Given the description of an element on the screen output the (x, y) to click on. 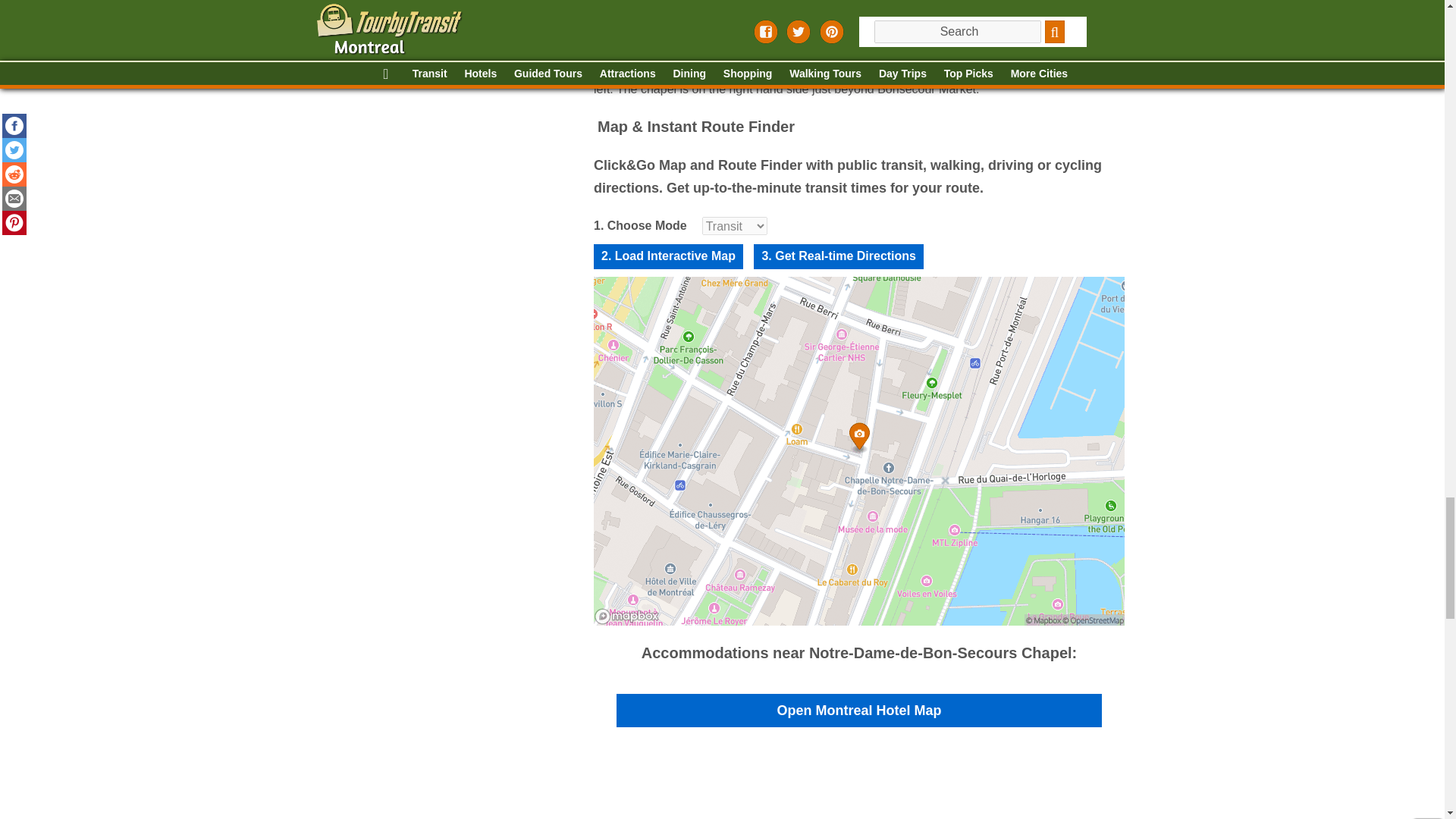
2. Load Interactive Map (667, 256)
Open Montreal Hotel Map (857, 710)
3. Get Real-time Directions (838, 256)
